Given the description of an element on the screen output the (x, y) to click on. 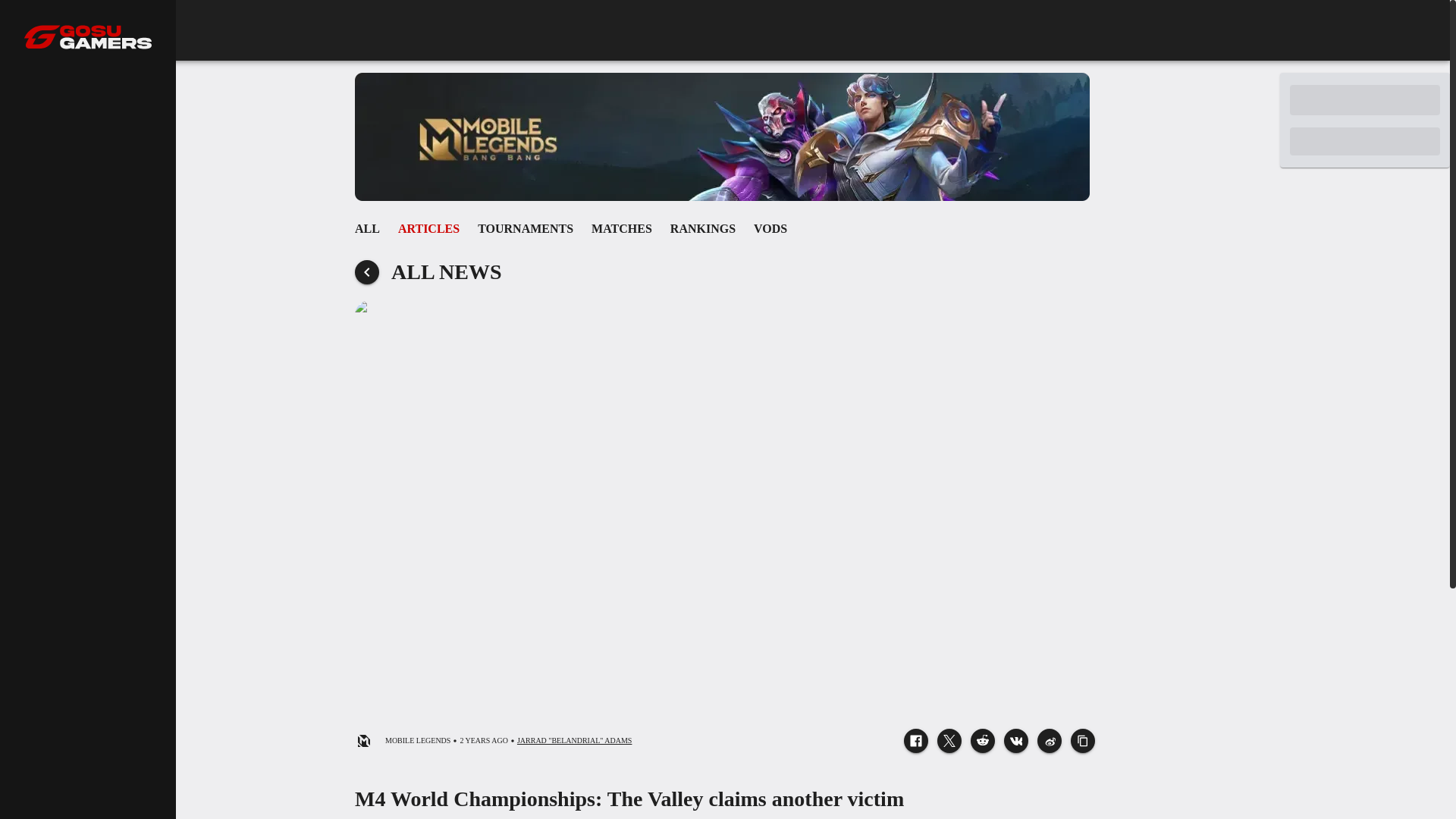
JARRAD "BELANDRIAL" ADAMS (573, 740)
Share to Facebook (916, 740)
VODS (770, 228)
MATCHES (621, 228)
ARTICLES (724, 228)
RANKINGS (428, 228)
TOURNAMENTS (702, 228)
